Given the description of an element on the screen output the (x, y) to click on. 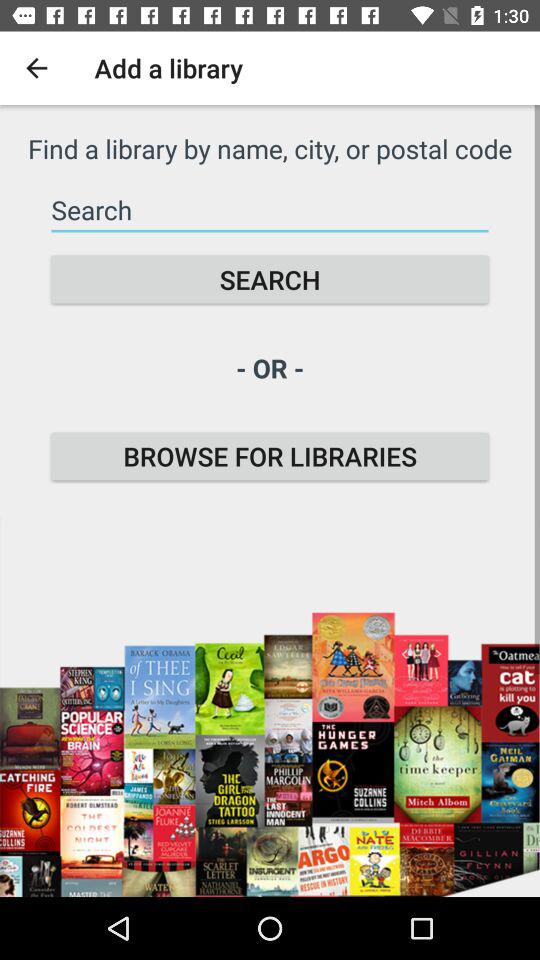
flip to the browse for libraries item (269, 455)
